Given the description of an element on the screen output the (x, y) to click on. 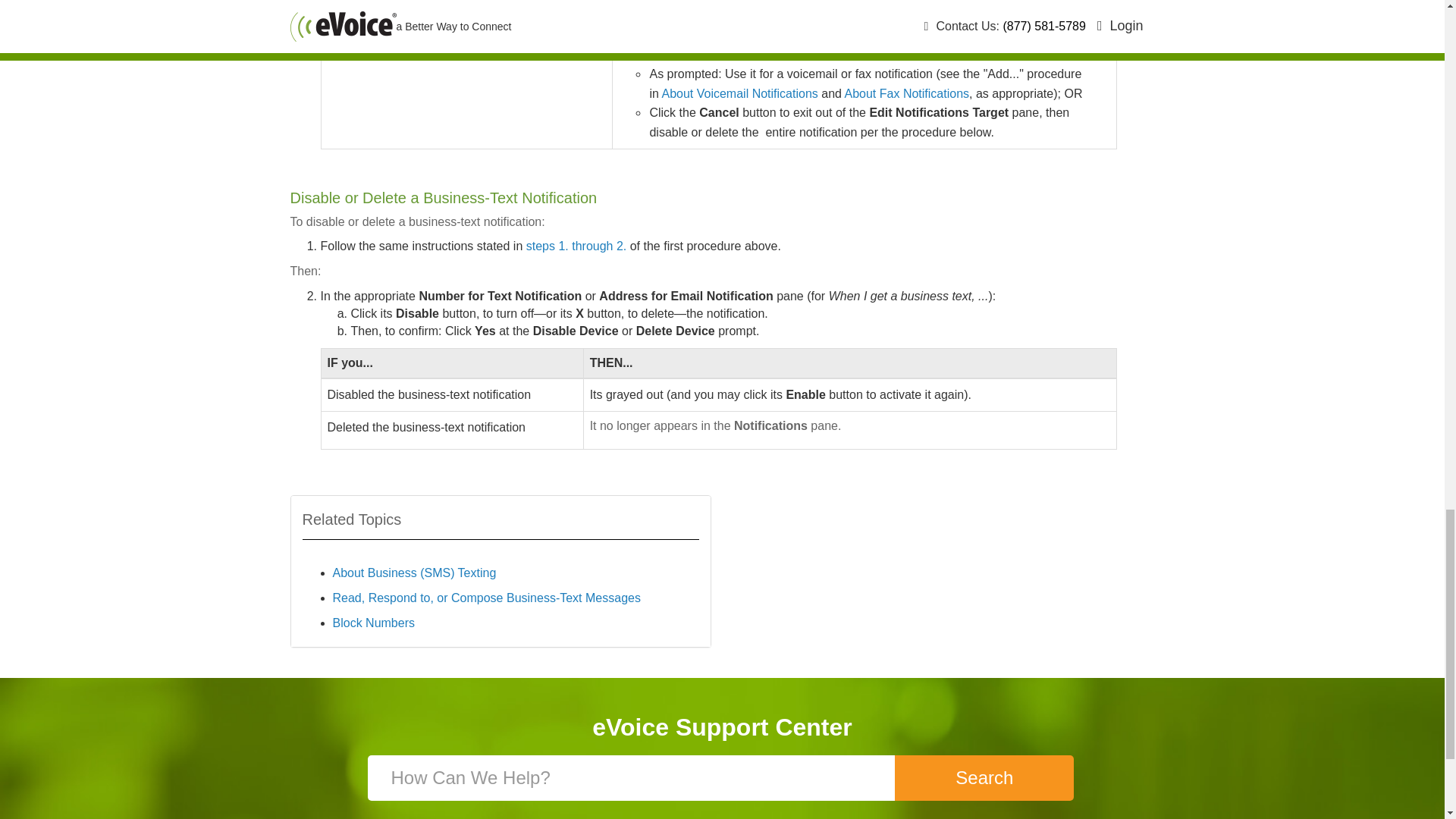
steps 1. through 2. (576, 245)
Search input (633, 777)
About Fax Notifications (906, 92)
About Voicemail Notifications (738, 92)
